Given the description of an element on the screen output the (x, y) to click on. 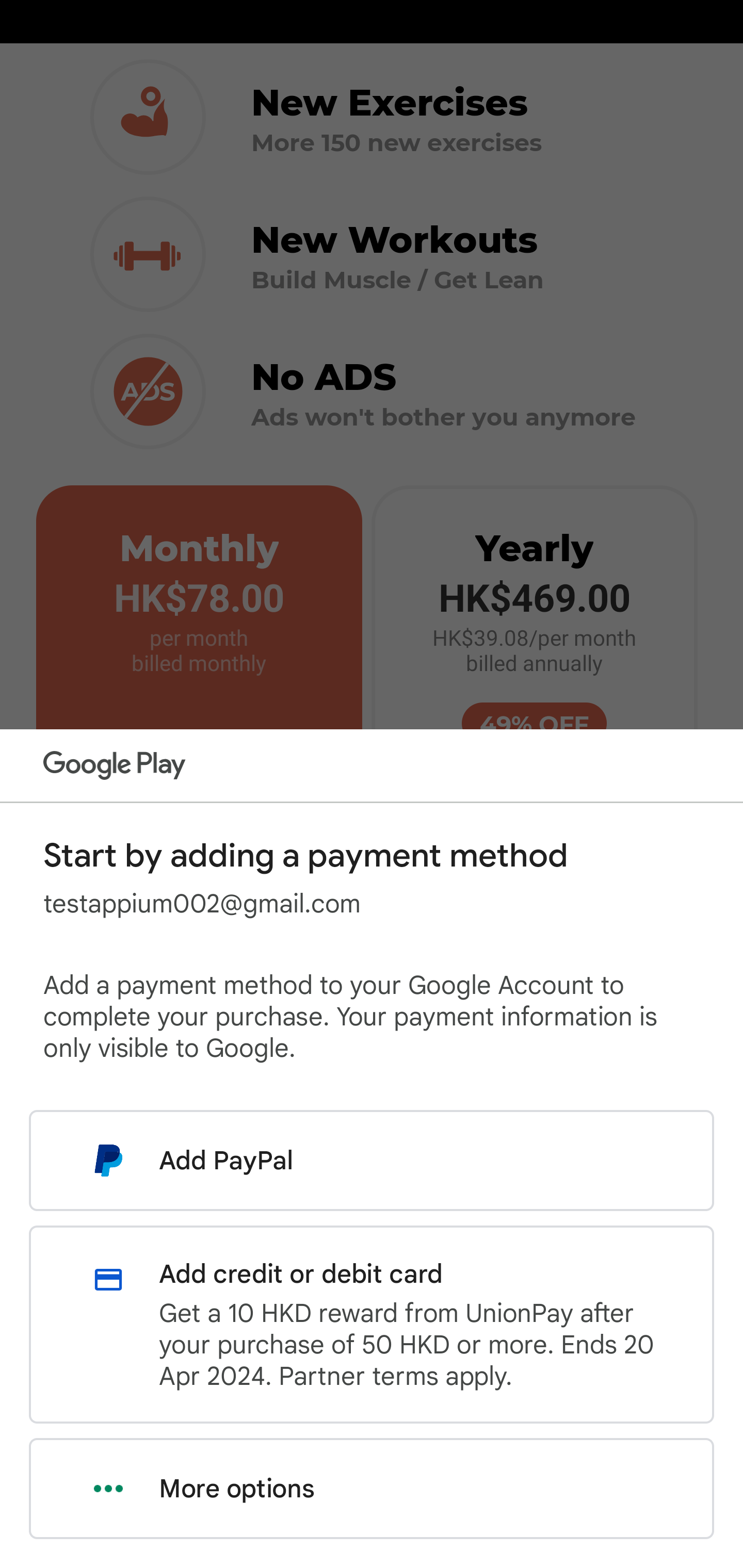
Add PayPal (371, 1160)
More options (371, 1488)
